Given the description of an element on the screen output the (x, y) to click on. 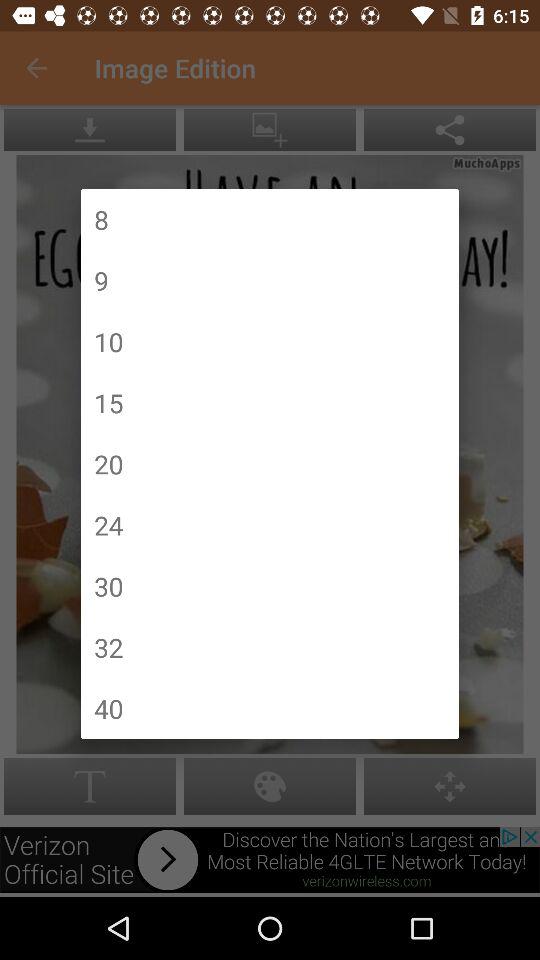
launch the 32 item (108, 647)
